Given the description of an element on the screen output the (x, y) to click on. 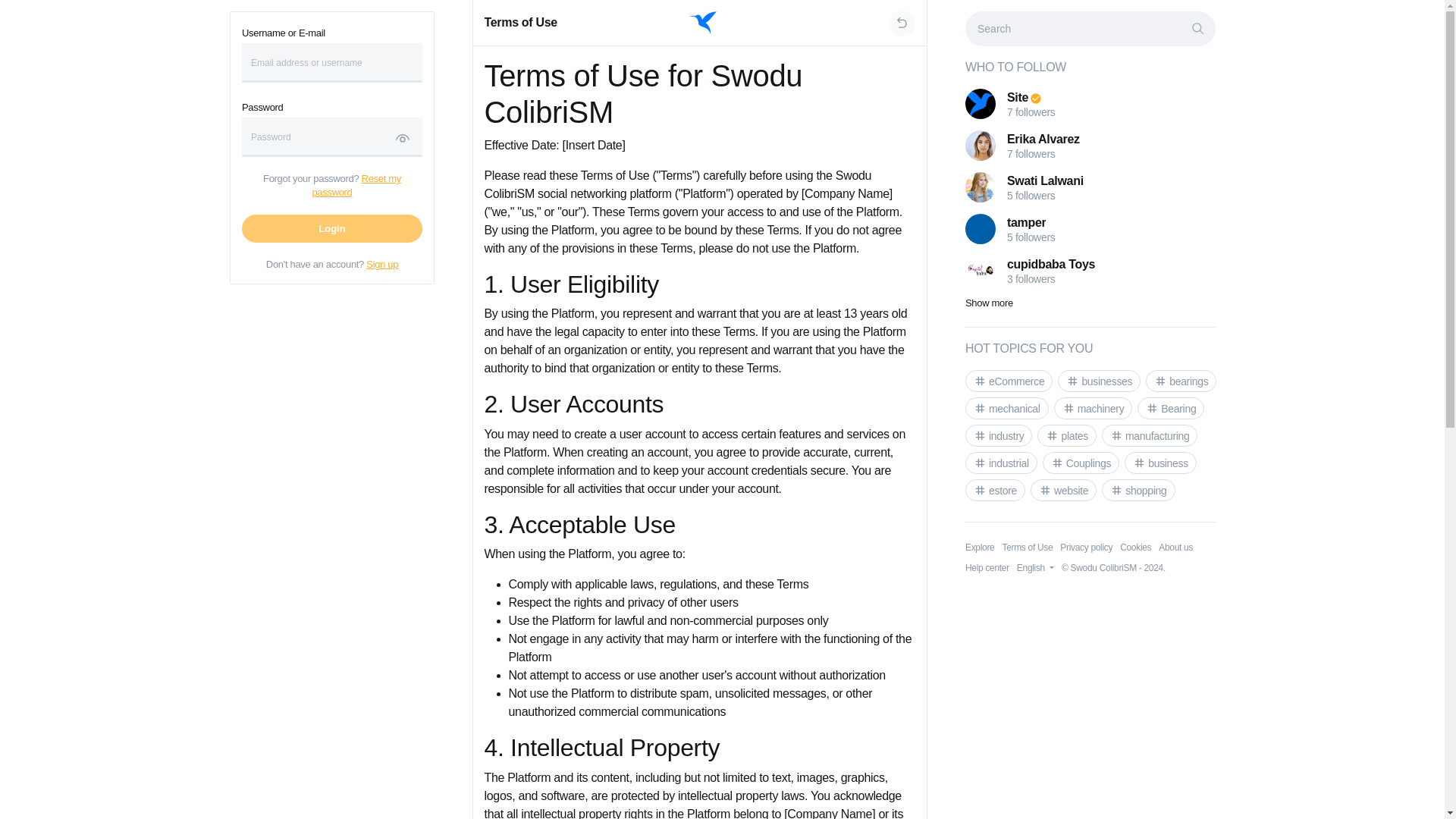
Posts 11 (1099, 381)
Terms of Use (1026, 547)
business (1160, 463)
mechanical (1005, 408)
Reset my password (355, 185)
Posts 3 (1092, 408)
Sign up (381, 264)
shopping (1138, 490)
Posts 2 (1066, 435)
Posts 27 (1160, 463)
